Given the description of an element on the screen output the (x, y) to click on. 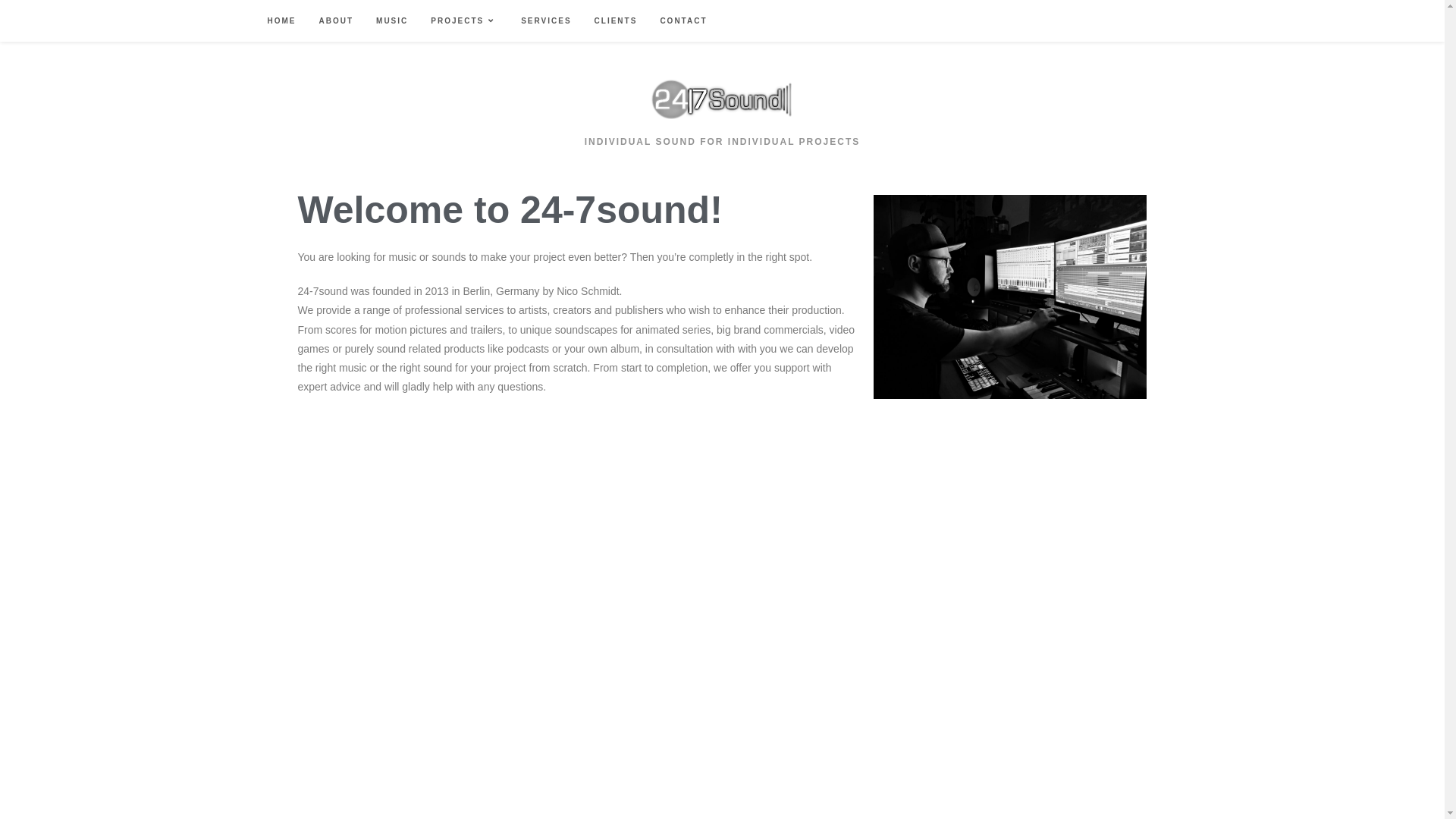
CLIENTS Element type: text (616, 20)
CONTACT Element type: text (683, 20)
PROJECTS Element type: text (464, 20)
SERVICES Element type: text (545, 20)
HOME Element type: text (281, 20)
MUSIC Element type: text (391, 20)
ABOUT Element type: text (336, 20)
